Given the description of an element on the screen output the (x, y) to click on. 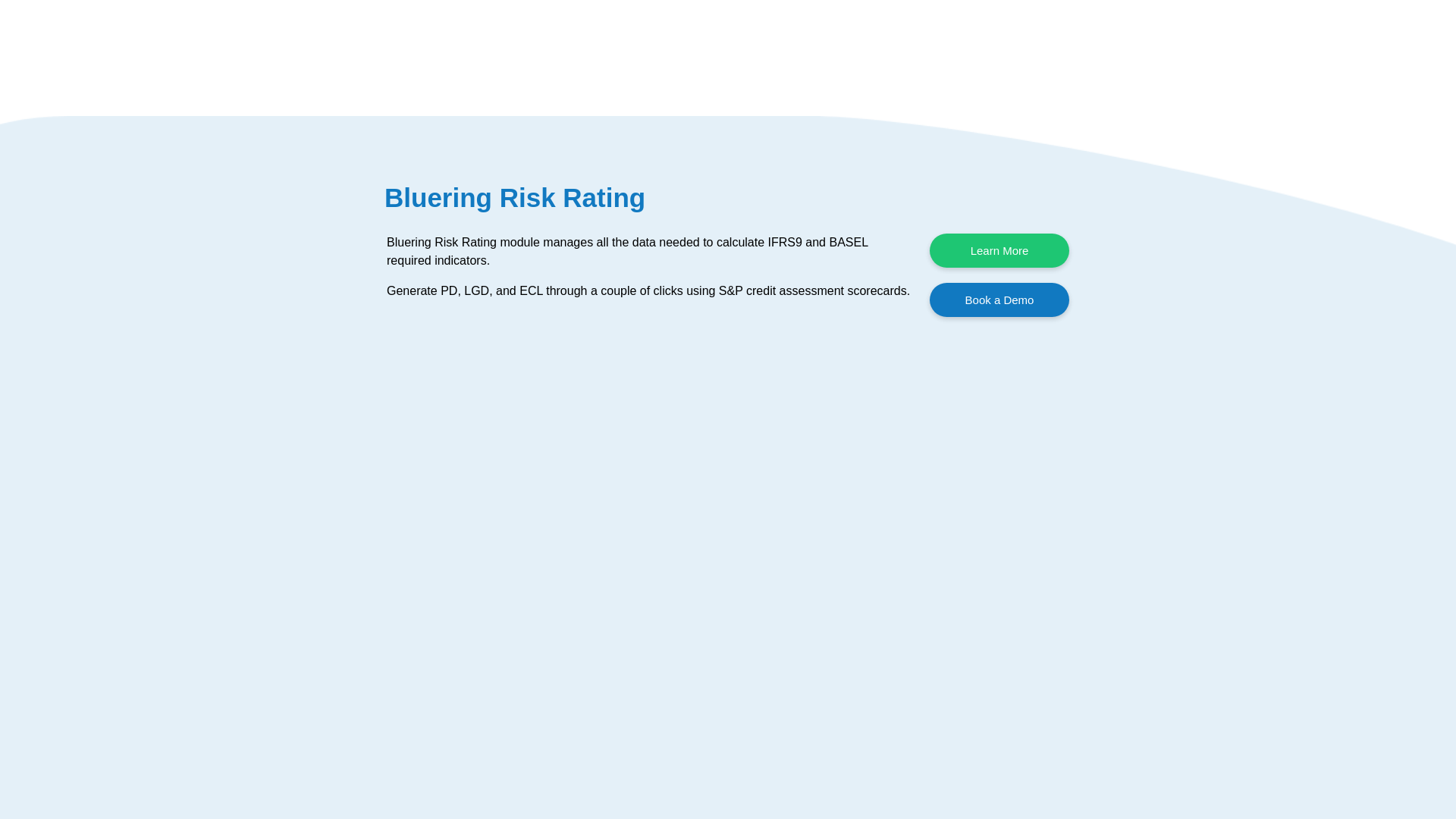
Learn More (999, 250)
Book a Demo (999, 299)
